Given the description of an element on the screen output the (x, y) to click on. 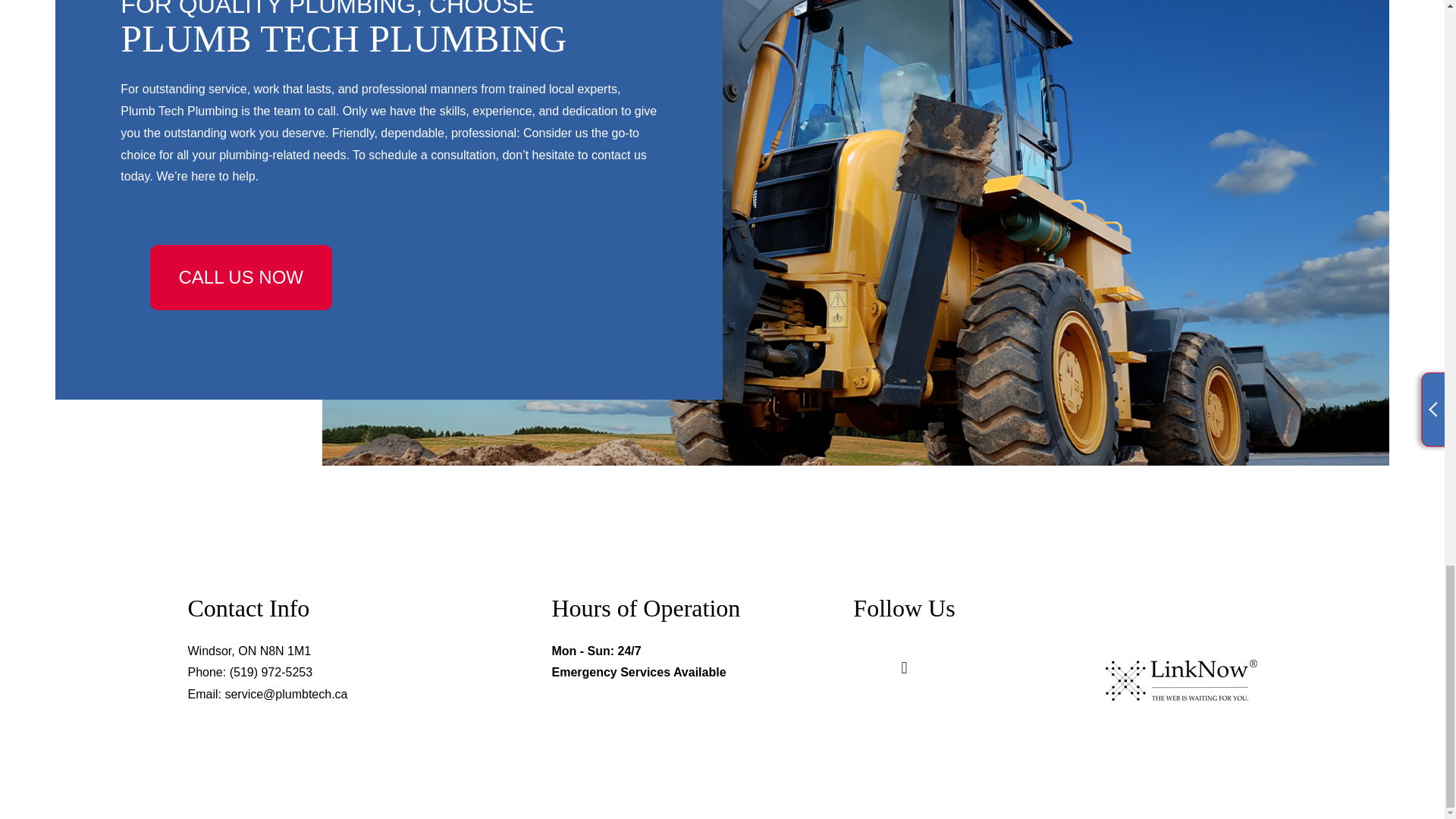
Google Maps (903, 668)
